Given the description of an element on the screen output the (x, y) to click on. 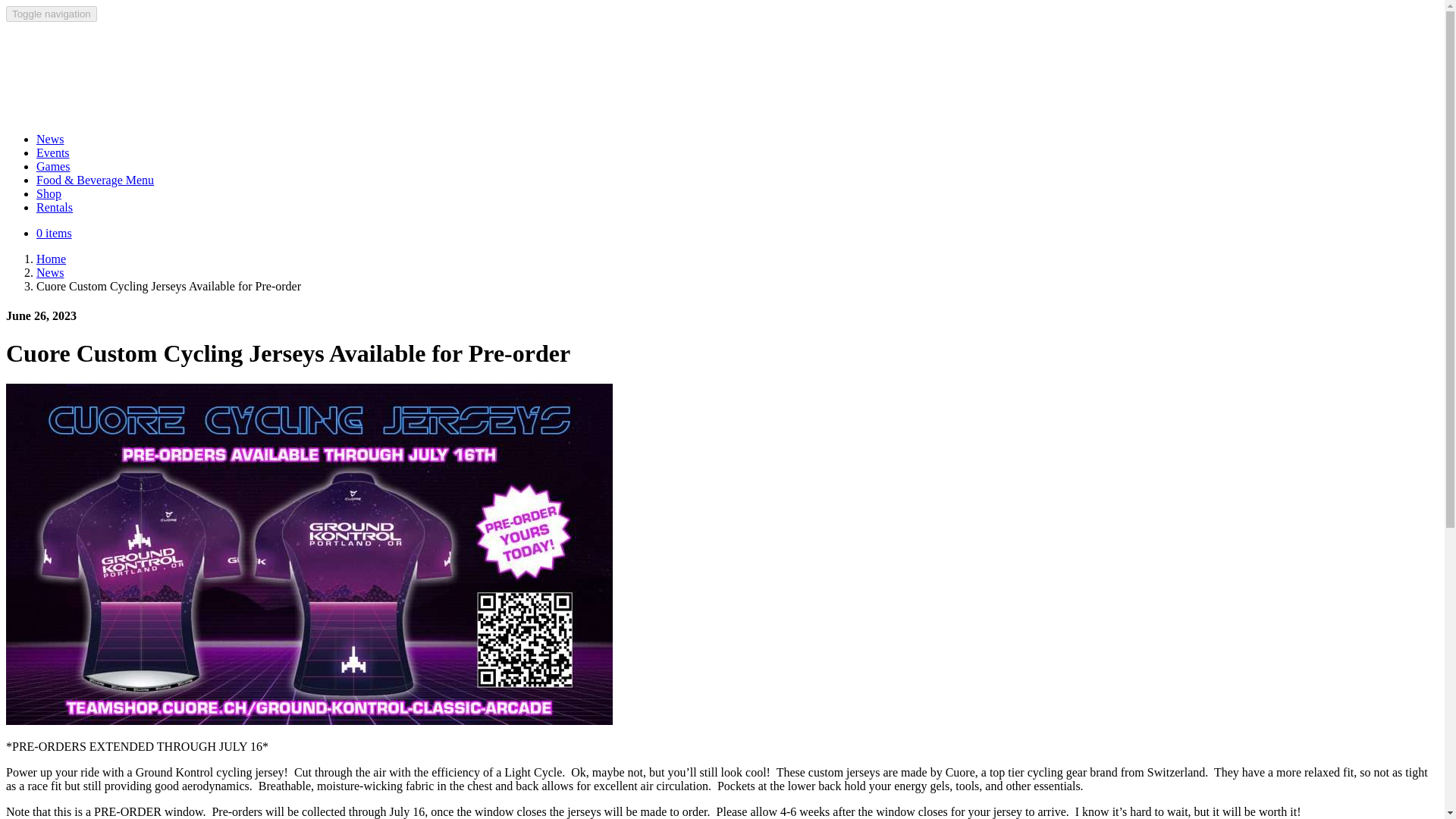
View your shopping cart (53, 232)
Rentals (54, 206)
Shop (48, 193)
0 items (53, 232)
2023-06-26 13:30:48 (41, 315)
Games (52, 165)
Toggle navigation (51, 13)
Home (50, 258)
News (50, 138)
News (50, 272)
Events (52, 152)
